Given the description of an element on the screen output the (x, y) to click on. 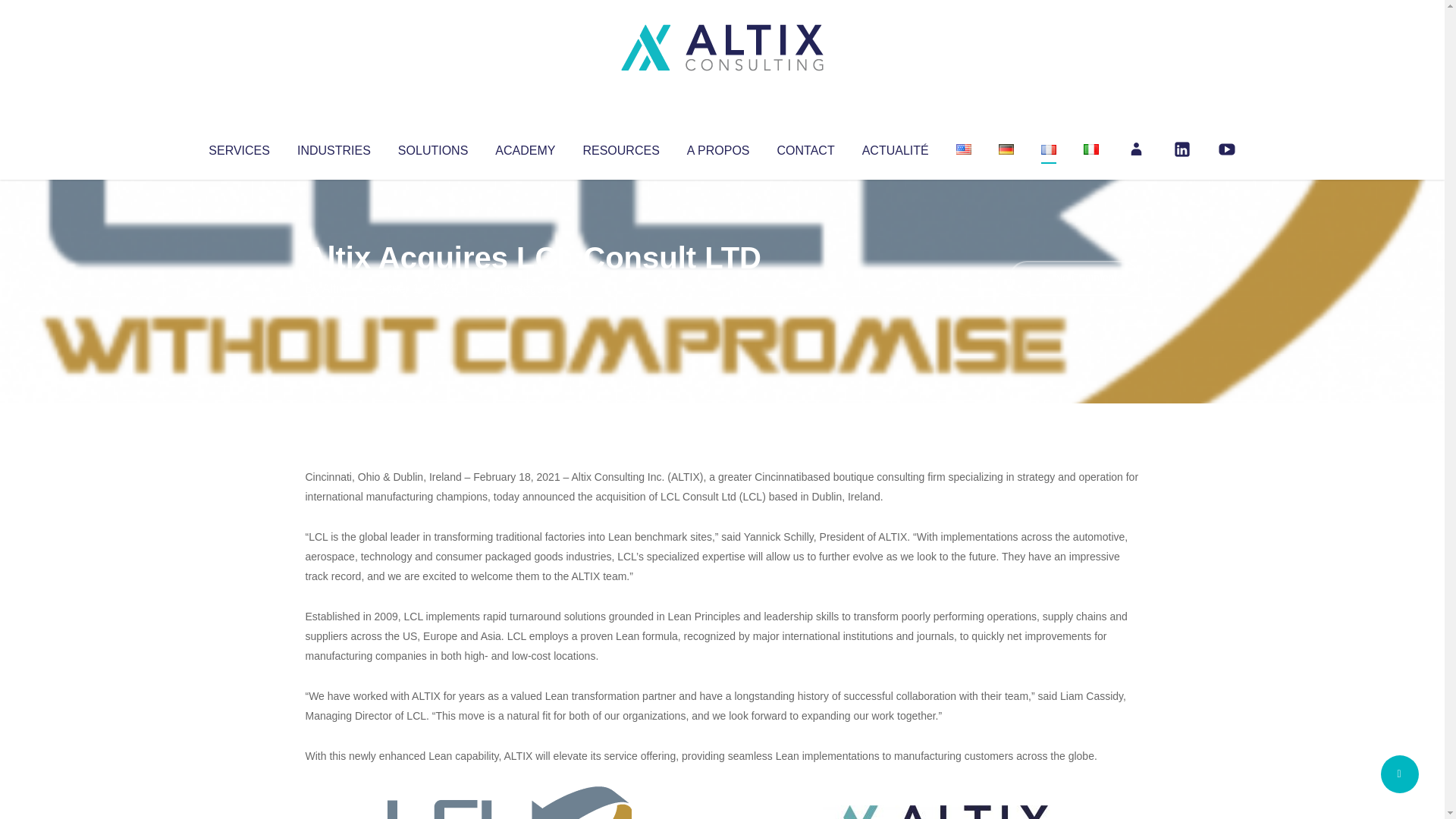
Uncategorized (530, 287)
A PROPOS (718, 146)
No Comments (1073, 278)
Articles par Altix (333, 287)
SOLUTIONS (432, 146)
Altix (333, 287)
SERVICES (238, 146)
INDUSTRIES (334, 146)
RESOURCES (620, 146)
ACADEMY (524, 146)
